Given the description of an element on the screen output the (x, y) to click on. 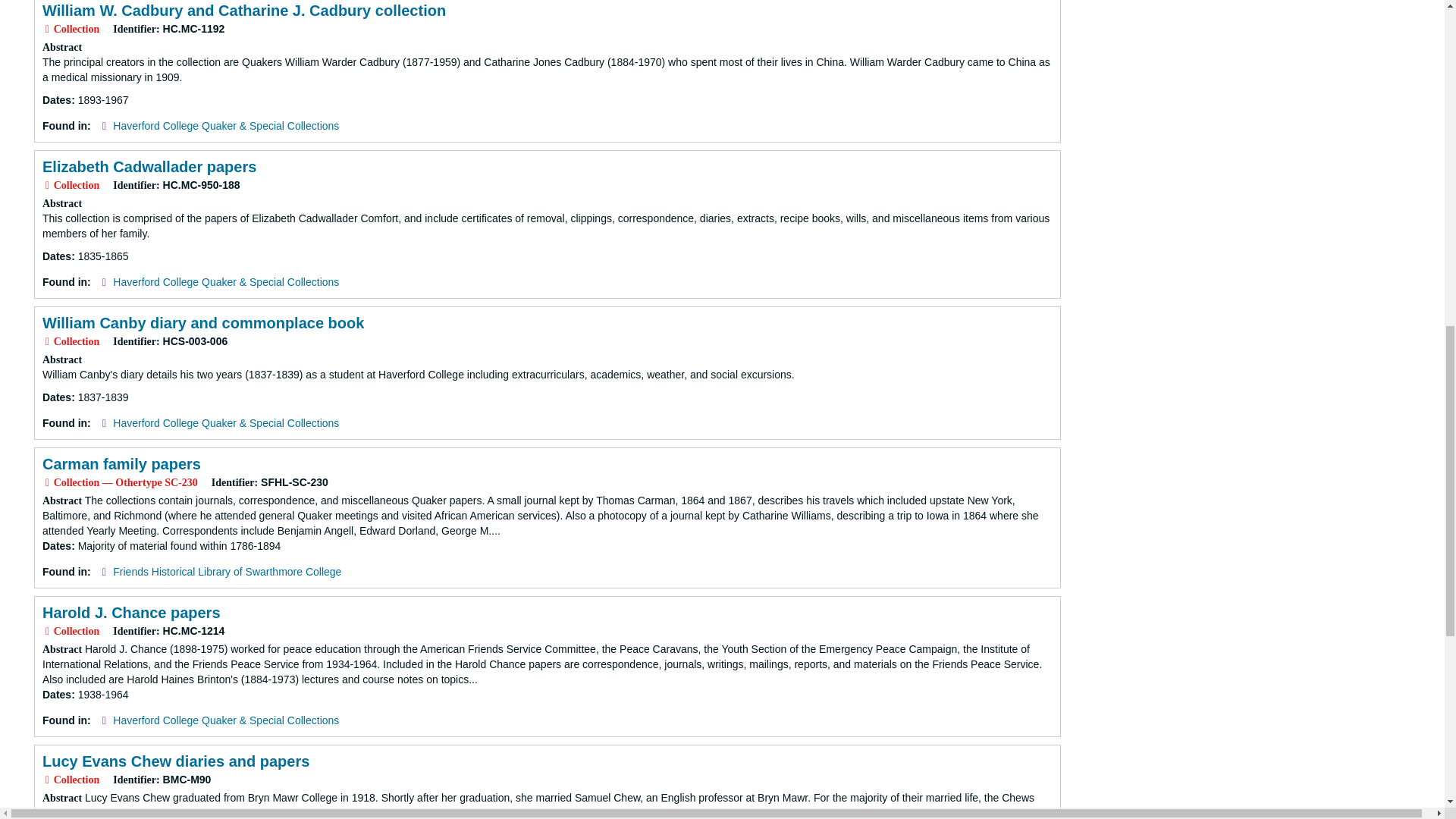
Friends Historical Library of Swarthmore College (226, 571)
Elizabeth Cadwallader papers (149, 166)
William W. Cadbury and Catharine J. Cadbury collection (243, 10)
Carman family papers (121, 463)
William Canby diary and commonplace book (203, 322)
Harold J. Chance papers (131, 612)
